Given the description of an element on the screen output the (x, y) to click on. 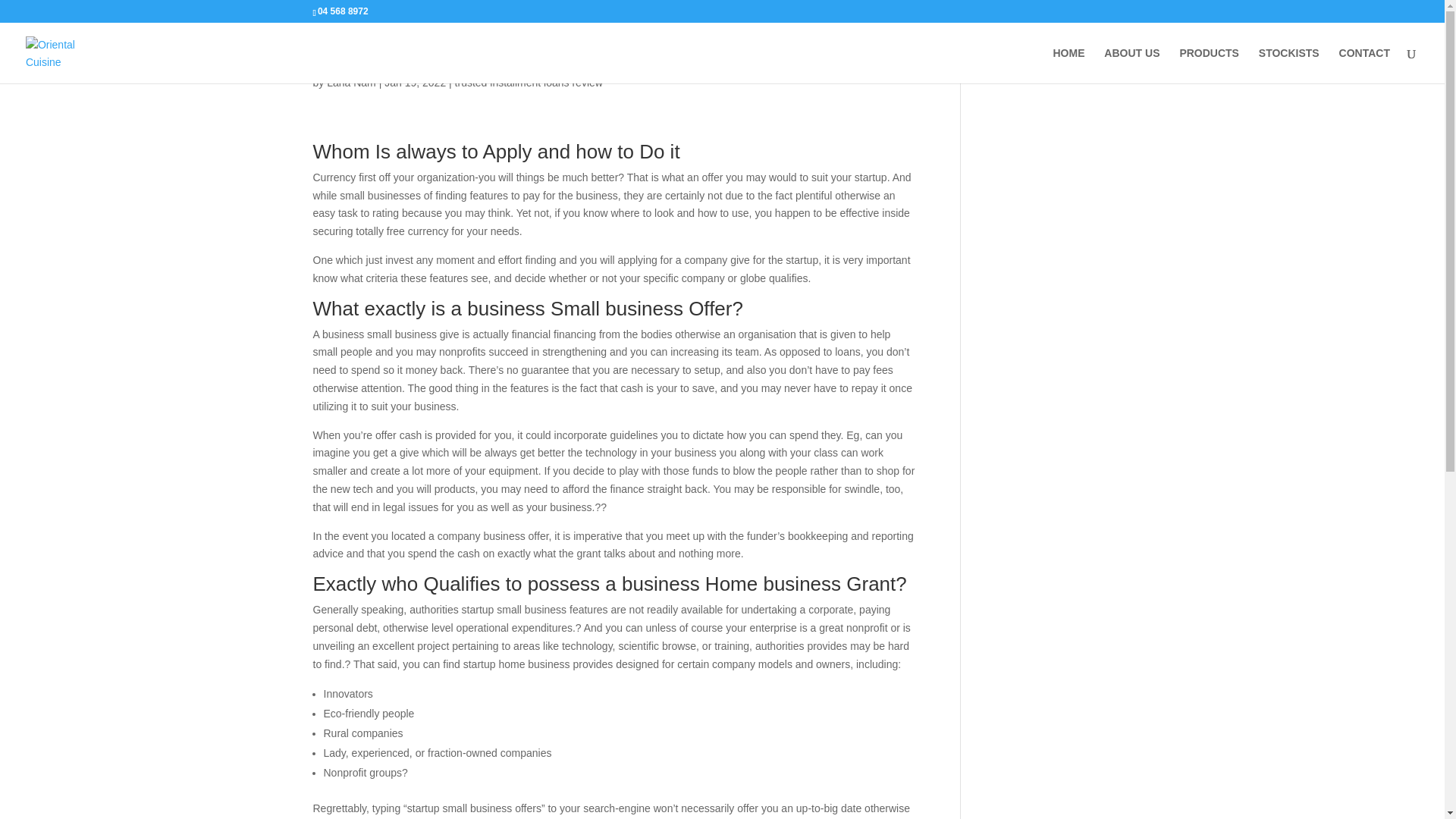
Search (1106, 59)
Lana Nam (350, 82)
STOCKISTS (1289, 65)
Posts by Lana Nam (350, 82)
PRODUCTS (1209, 65)
trusted installment loans review (528, 82)
ABOUT US (1130, 65)
CONTACT (1364, 65)
Search (1106, 59)
HOME (1068, 65)
